Given the description of an element on the screen output the (x, y) to click on. 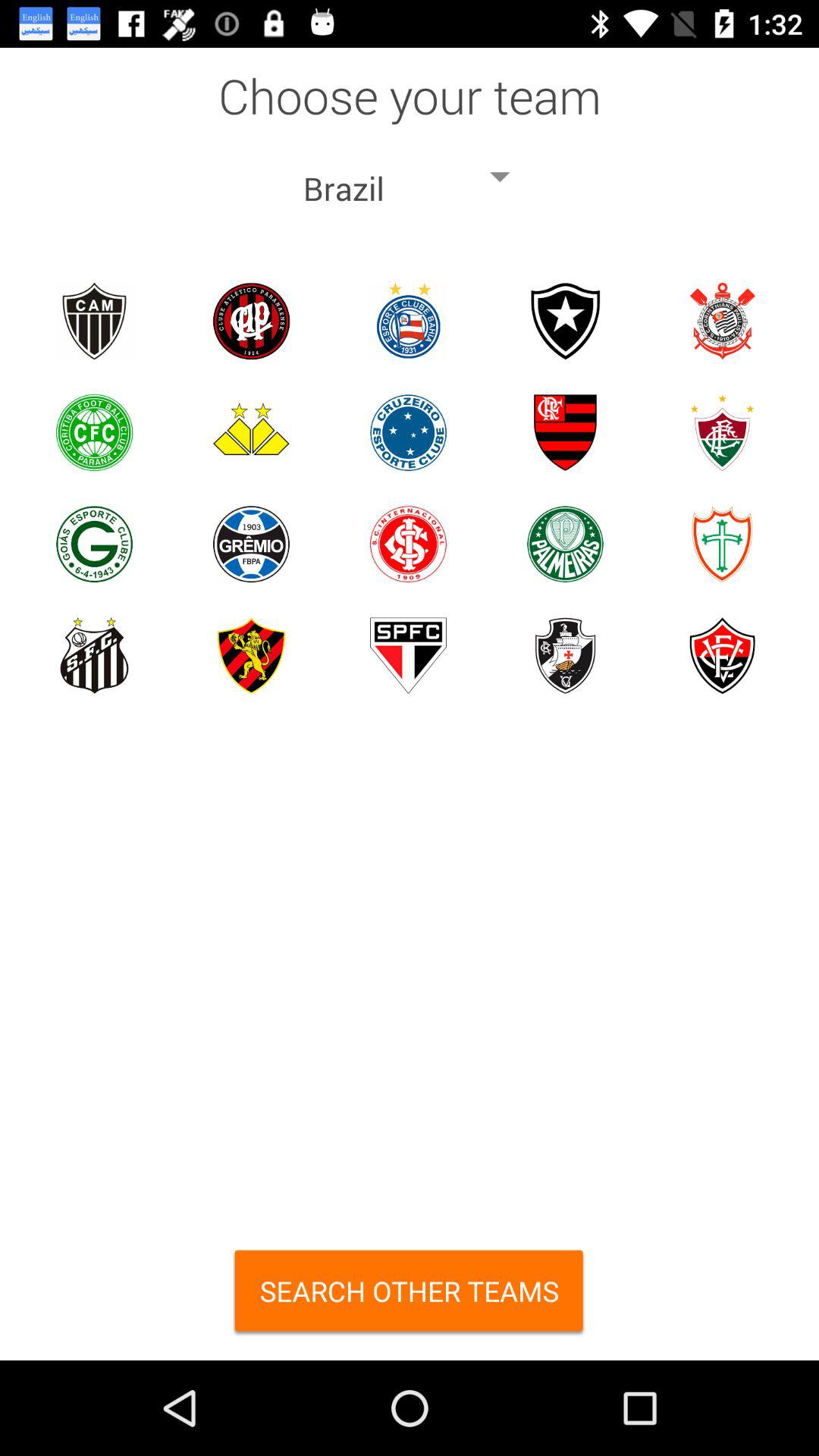
choose team (94, 432)
